Given the description of an element on the screen output the (x, y) to click on. 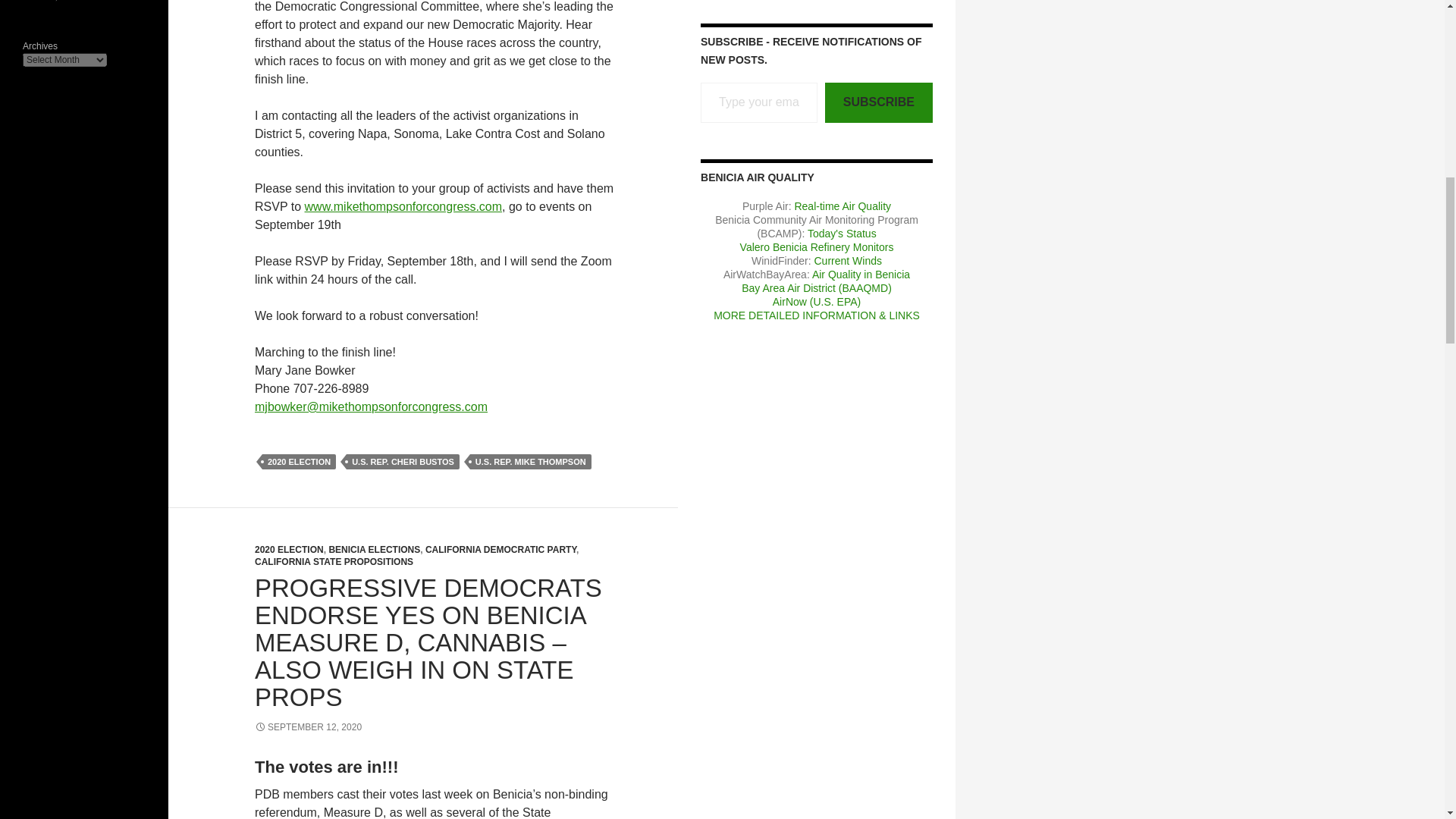
BENICIA ELECTIONS (374, 549)
U.S. REP. CHERI BUSTOS (403, 461)
Please fill in this field. (758, 102)
U.S. REP. MIKE THOMPSON (530, 461)
2020 ELECTION (299, 461)
2020 ELECTION (288, 549)
SEPTEMBER 12, 2020 (307, 726)
www.mikethompsonforcongress.com (403, 205)
CALIFORNIA DEMOCRATIC PARTY (500, 549)
CALIFORNIA STATE PROPOSITIONS (333, 561)
